Given the description of an element on the screen output the (x, y) to click on. 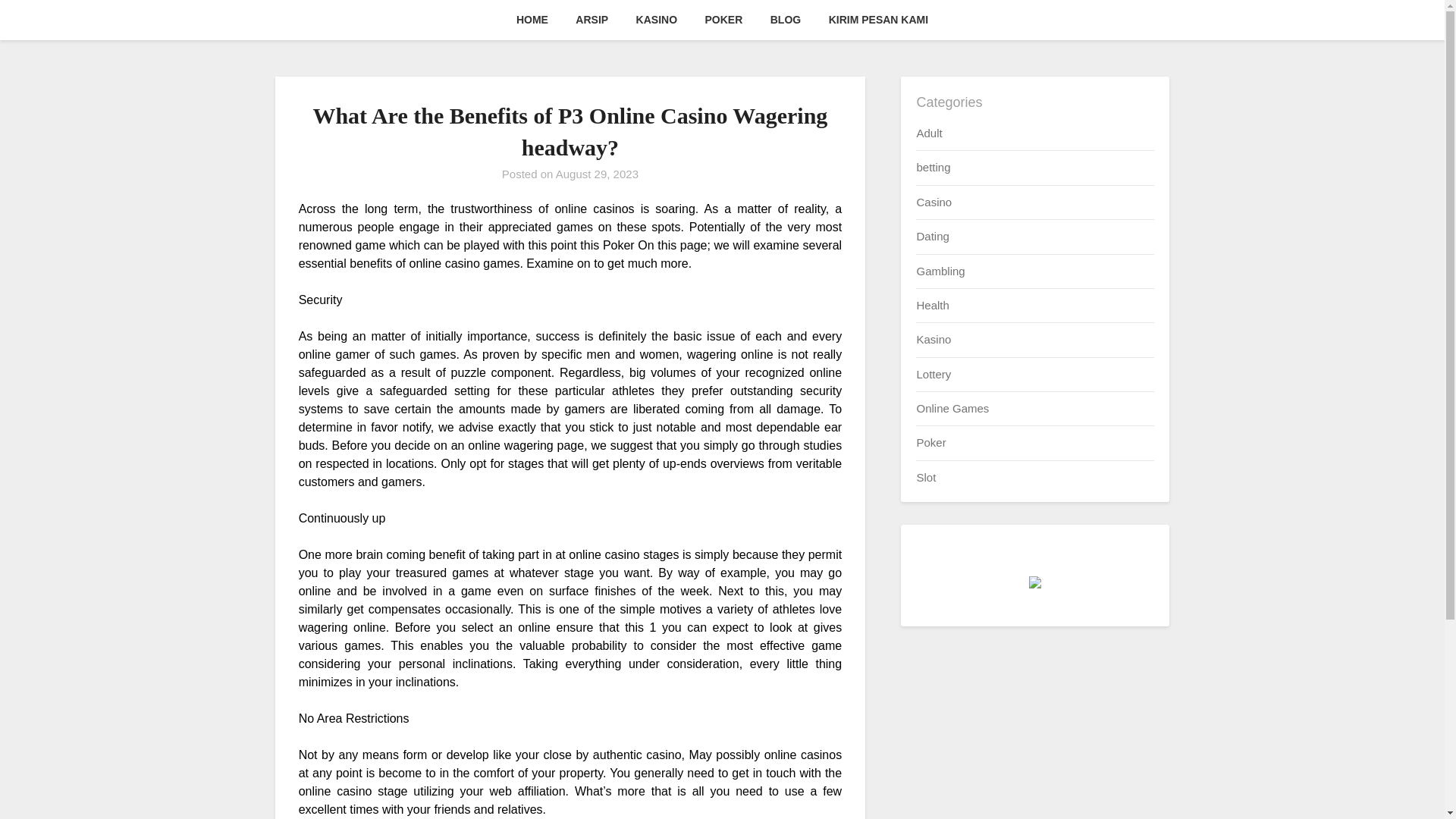
Dating (932, 236)
Lottery (932, 373)
Adult (928, 132)
Gambling (939, 269)
August 29, 2023 (597, 173)
ARSIP (591, 20)
Casino (933, 201)
Online Games (951, 408)
BLOG (785, 20)
KIRIM PESAN KAMI (878, 20)
betting (932, 166)
Health (932, 305)
POKER (724, 20)
Kasino (932, 338)
HOME (531, 20)
